Given the description of an element on the screen output the (x, y) to click on. 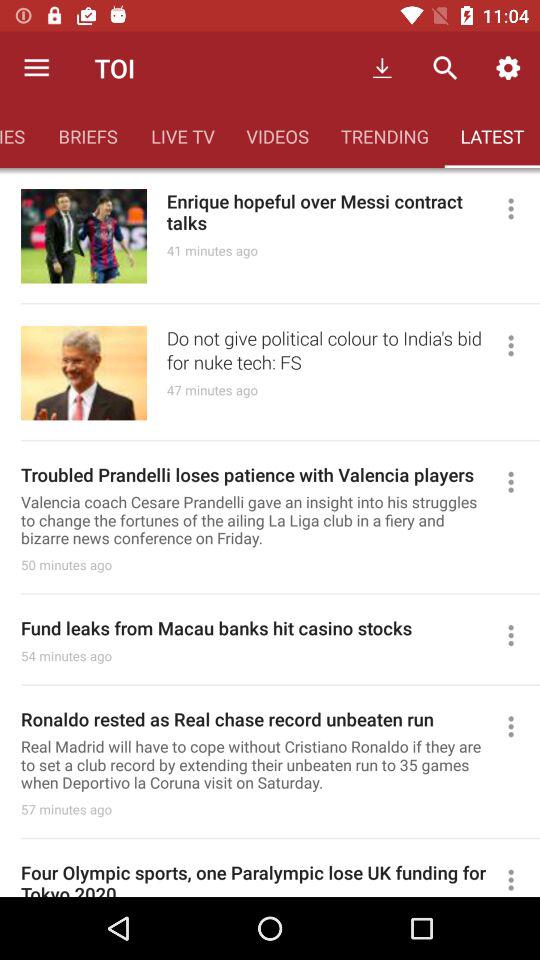
more options (519, 878)
